Given the description of an element on the screen output the (x, y) to click on. 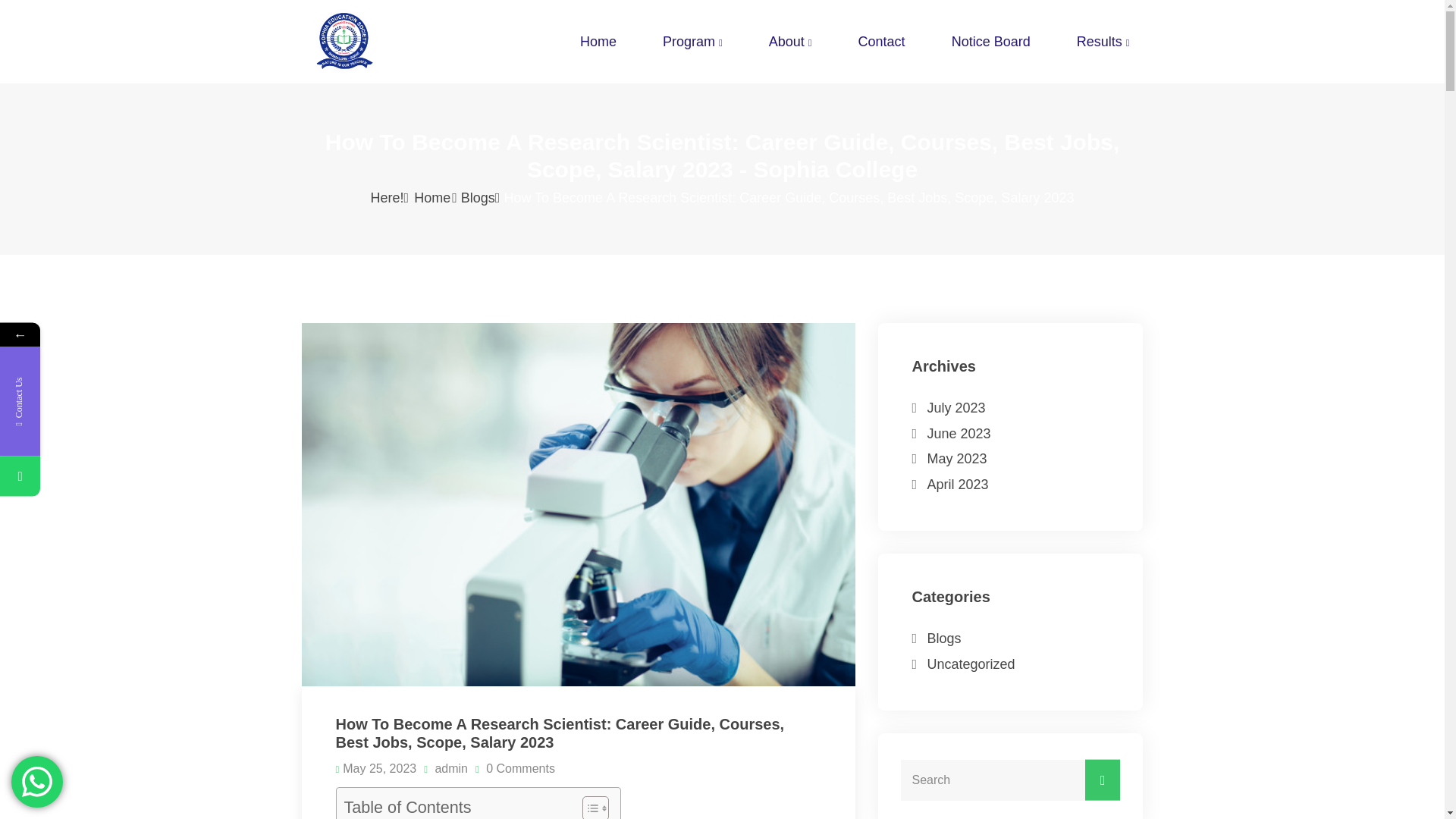
Sophia college (398, 41)
Notice Board (990, 41)
Contact (881, 41)
Home (598, 41)
Program (692, 41)
About (790, 41)
Results (1102, 41)
Search for: (1011, 780)
